Given the description of an element on the screen output the (x, y) to click on. 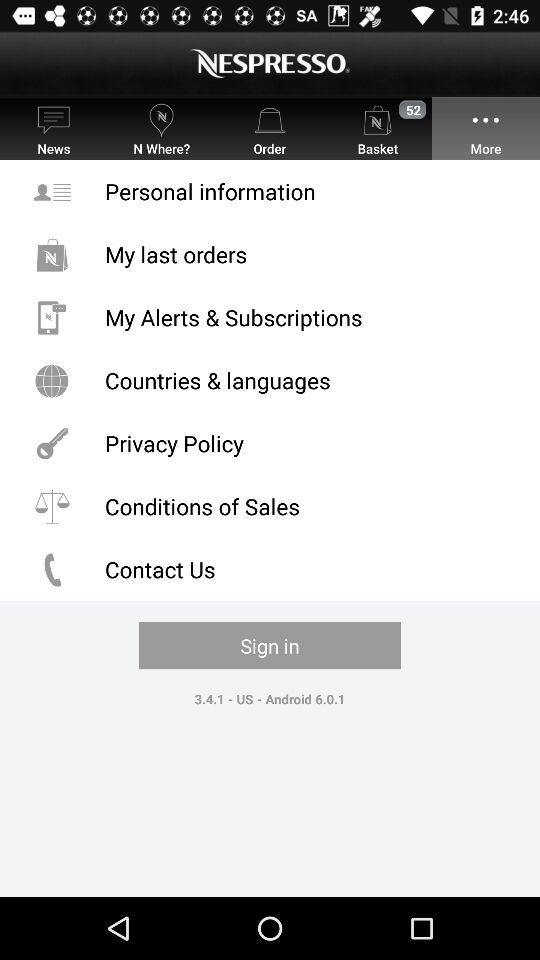
select the item above 3 4 1 icon (269, 645)
